Given the description of an element on the screen output the (x, y) to click on. 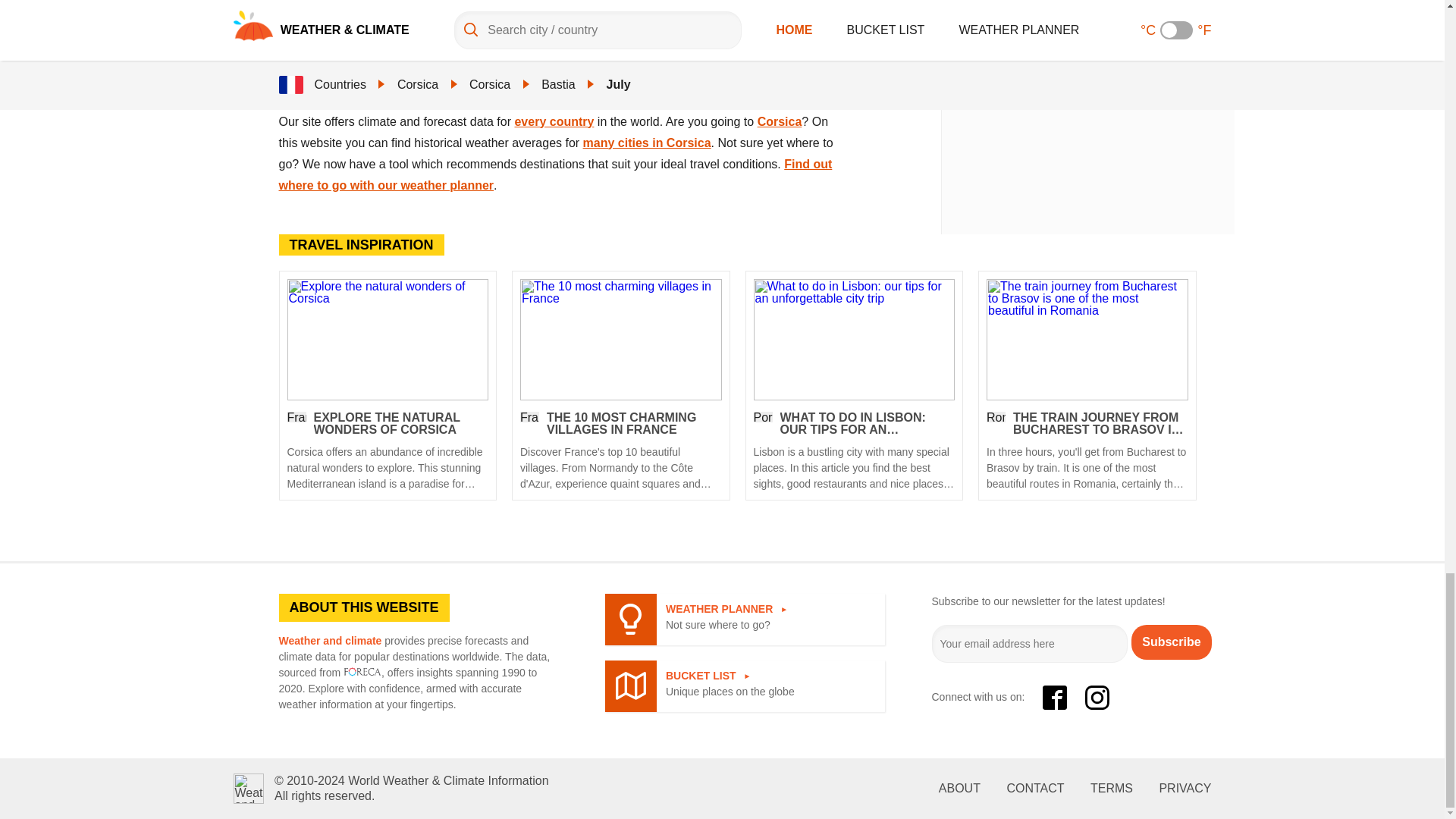
Explore the natural wonders of Corsica  (386, 451)
Subscribe (1171, 641)
Explore the natural wonders of Corsica  (386, 338)
Weather and climate homepage (247, 788)
The 10 most charming villages in France (620, 338)
